Given the description of an element on the screen output the (x, y) to click on. 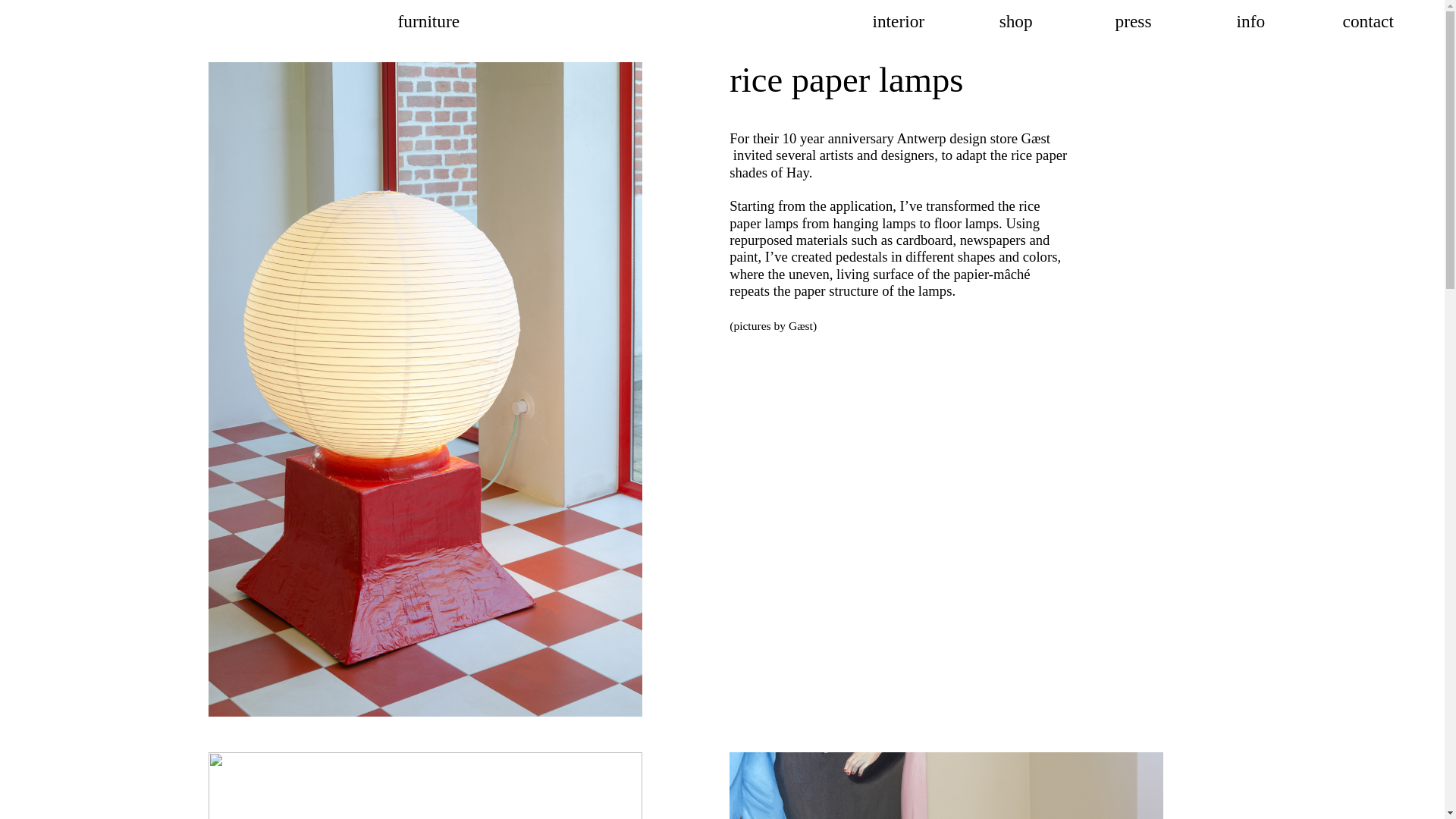
interior (898, 21)
furniture (428, 21)
info (1250, 21)
shop (1015, 21)
contact (1367, 21)
press (1133, 21)
